Given the description of an element on the screen output the (x, y) to click on. 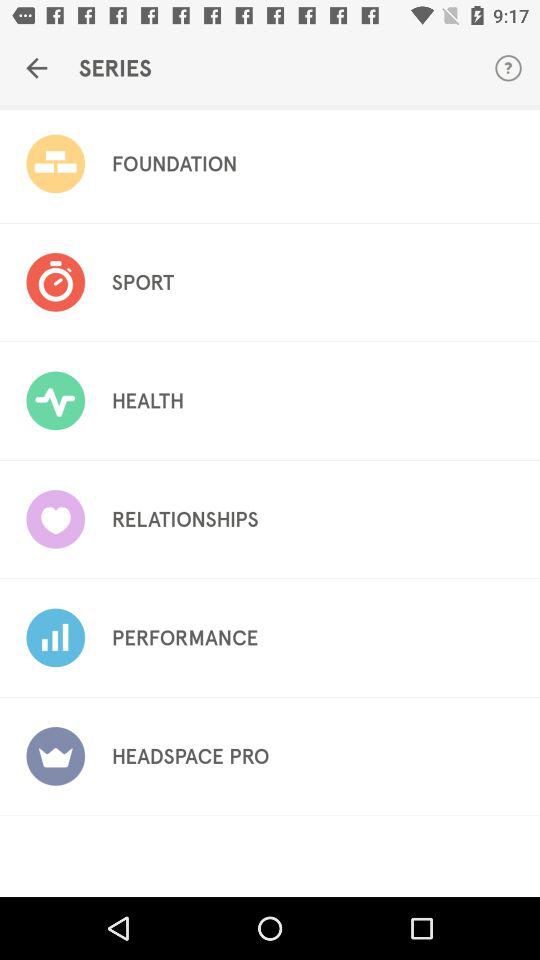
choose the icon to the left of the series (36, 68)
